Given the description of an element on the screen output the (x, y) to click on. 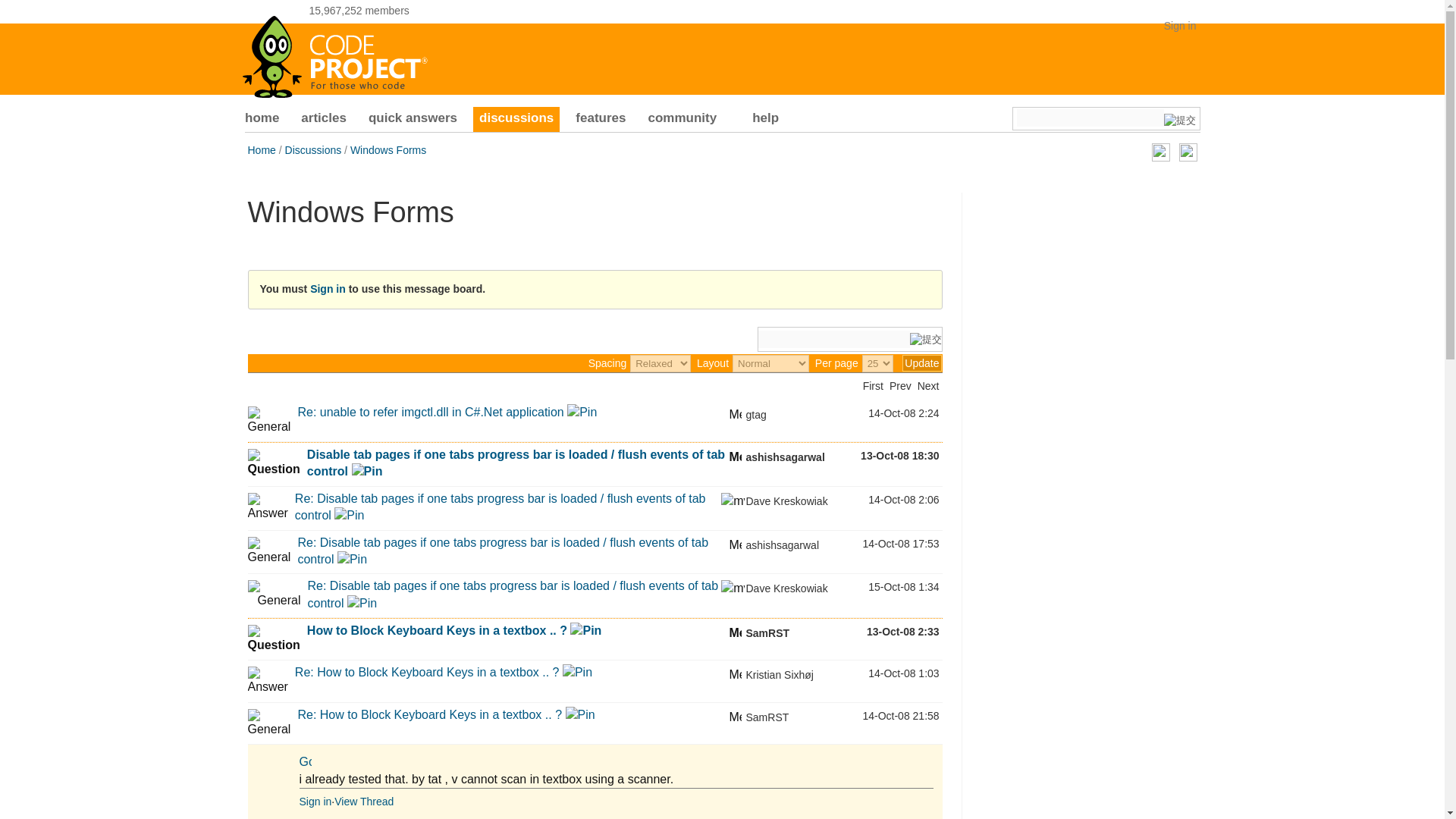
Member (735, 454)
quick answers (412, 119)
Sign in (1179, 25)
discussions (516, 119)
home (261, 119)
Click to pin message (349, 514)
Member (735, 412)
Click to pin message (581, 411)
General (268, 420)
Answer (266, 507)
